Given the description of an element on the screen output the (x, y) to click on. 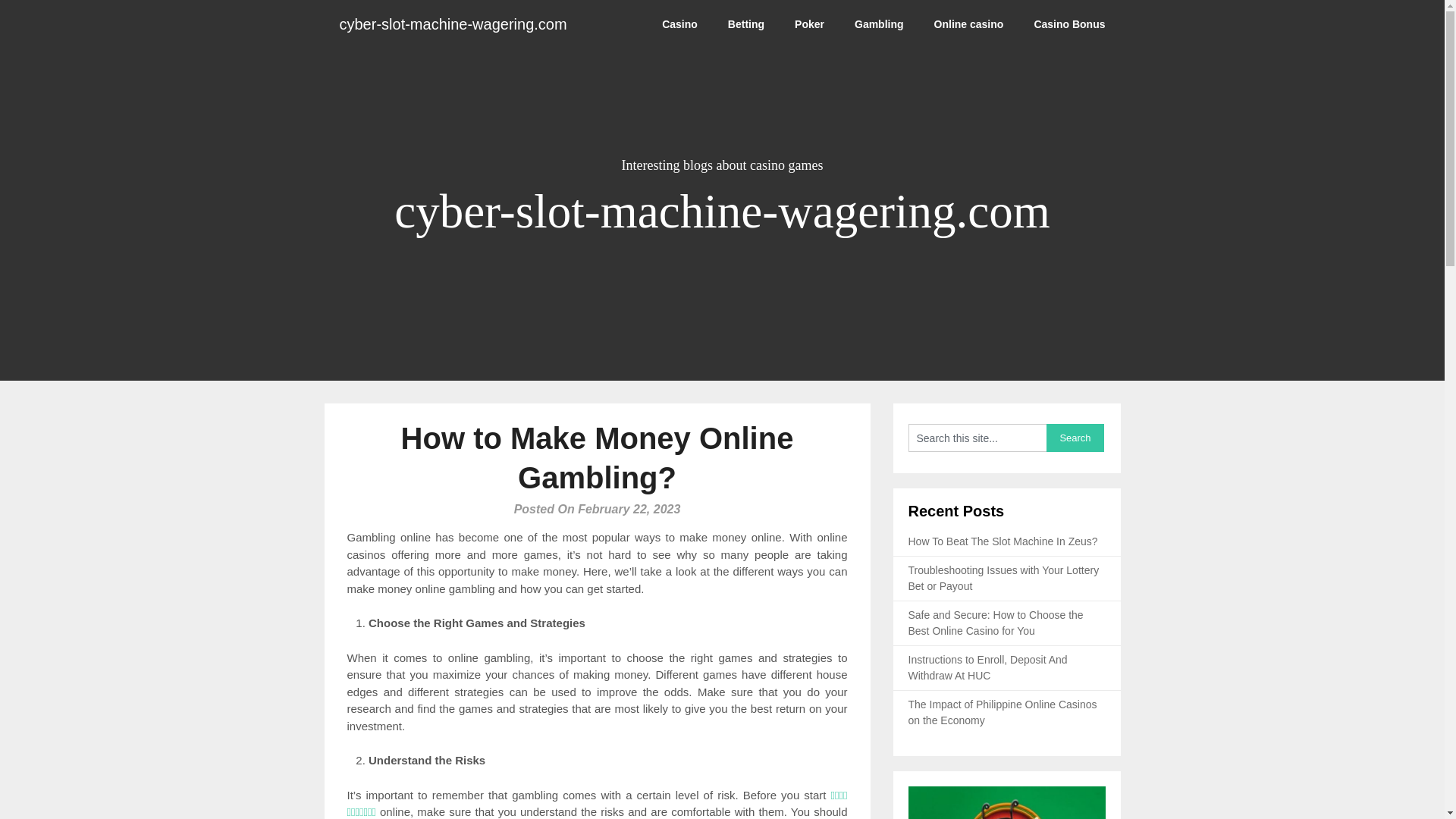
Poker (809, 24)
Casino Bonus (1068, 24)
Search (1075, 438)
Search this site... (977, 438)
cyber-slot-machine-wagering.com (453, 24)
Search (1075, 438)
Casino (679, 24)
Online casino (968, 24)
Gambling (879, 24)
Troubleshooting Issues with Your Lottery Bet or Payout (1003, 578)
How To Beat The Slot Machine In Zeus? (1002, 541)
Instructions to Enroll, Deposit And Withdraw At HUC (987, 667)
Betting (745, 24)
The Impact of Philippine Online Casinos on the Economy (1002, 712)
